Given the description of an element on the screen output the (x, y) to click on. 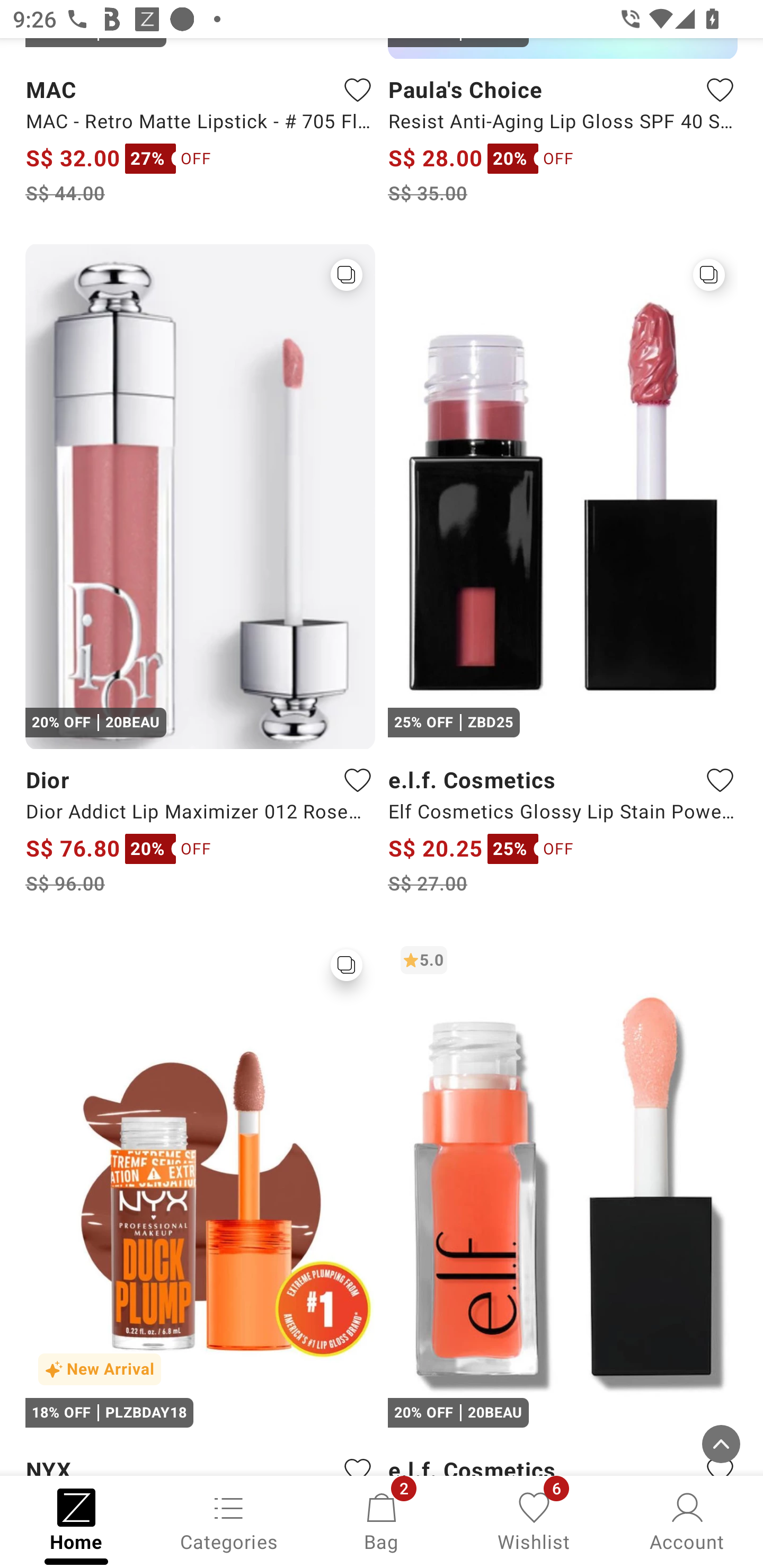
New Arrival 18% OFF PLZBDAY18 NYX Brand (200, 1203)
5.0 20% OFF 20BEAU e.l.f. Cosmetics Brand (562, 1203)
Categories (228, 1519)
Bag, 2 new notifications Bag (381, 1519)
Wishlist, 6 new notifications Wishlist (533, 1519)
Account (686, 1519)
